Given the description of an element on the screen output the (x, y) to click on. 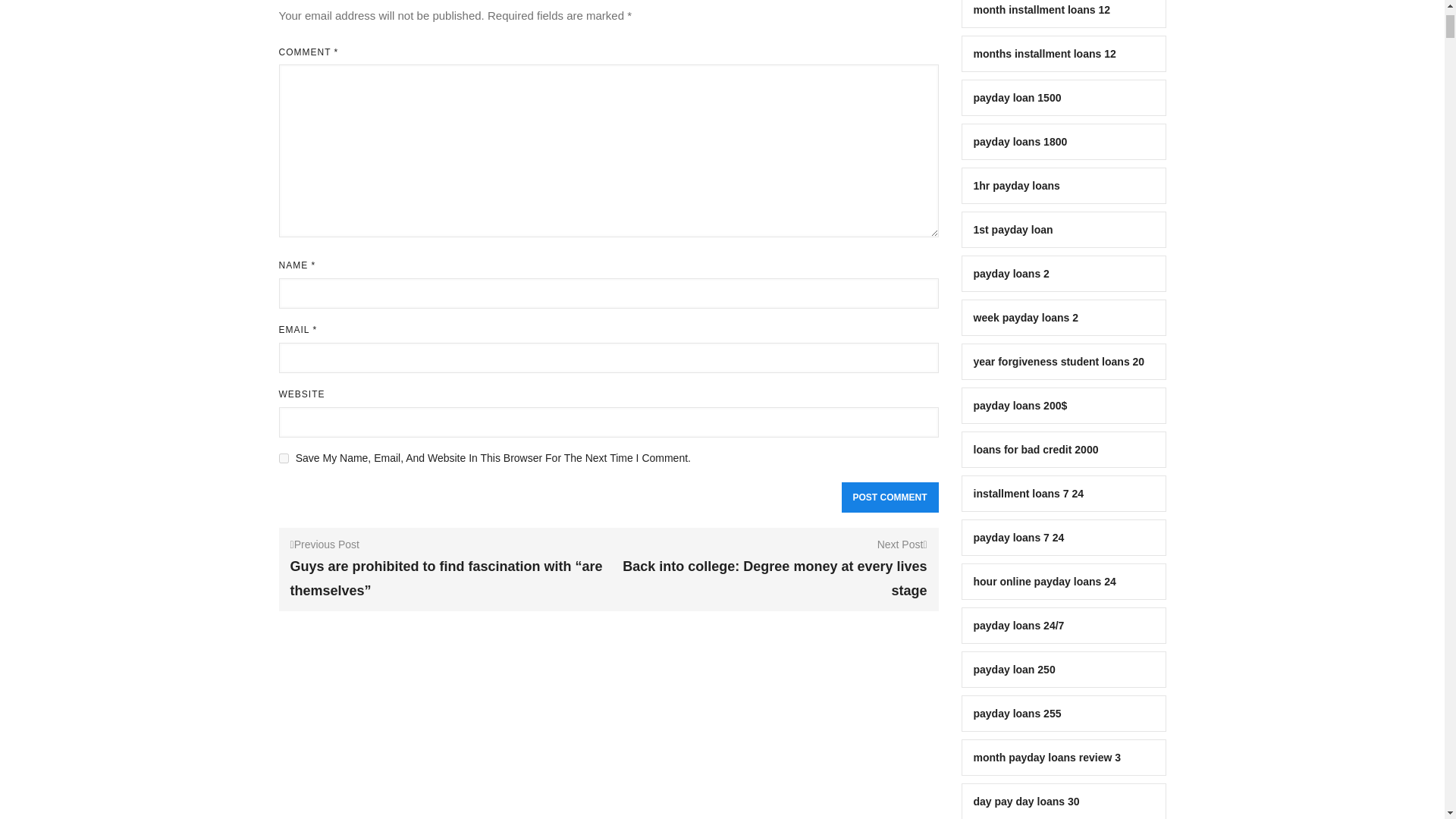
Post Comment (890, 497)
yes (283, 458)
Post Comment (890, 497)
